Given the description of an element on the screen output the (x, y) to click on. 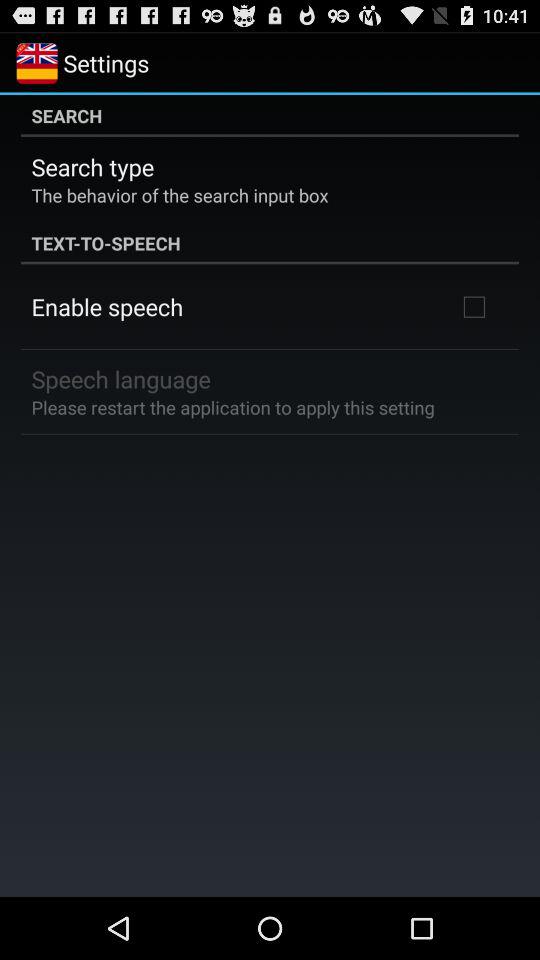
press the icon above the speech language (107, 306)
